Given the description of an element on the screen output the (x, y) to click on. 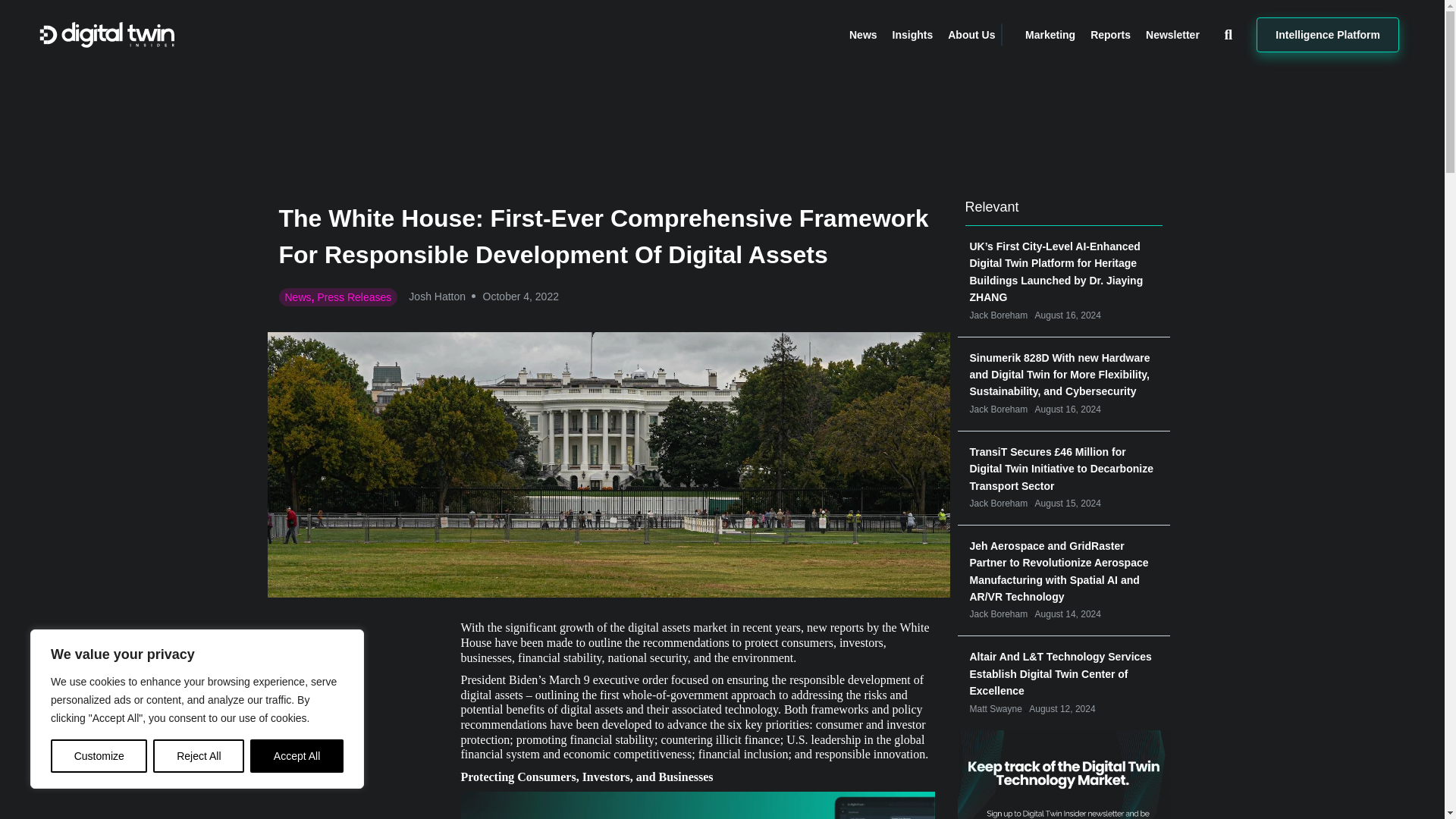
Reject All (198, 756)
Newsletter (1172, 34)
Marketing (1050, 34)
About Us (970, 34)
Accept All (296, 756)
Insights (912, 34)
Customize (98, 756)
Reports (1110, 34)
